Given the description of an element on the screen output the (x, y) to click on. 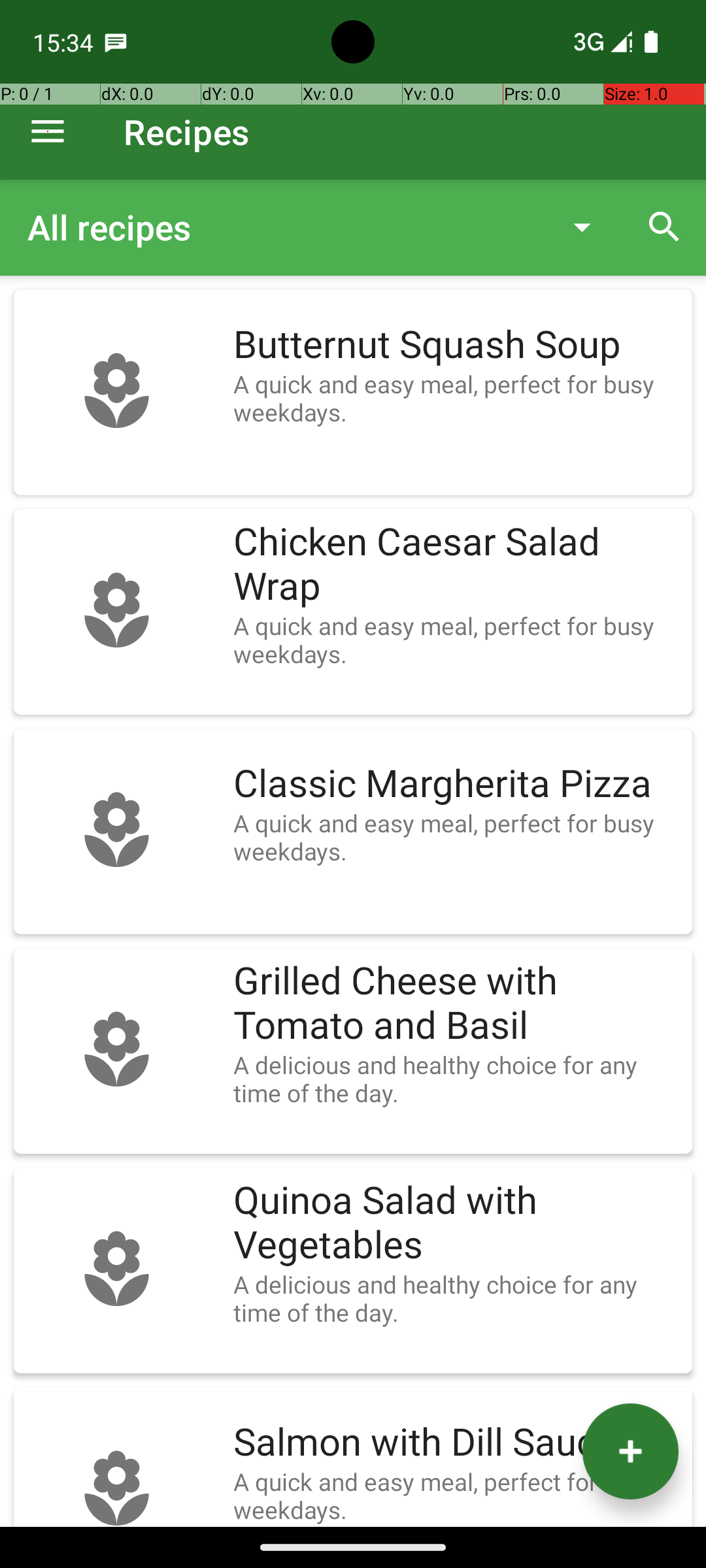
Chicken Caesar Salad Wrap Element type: android.widget.TextView (455, 564)
Classic Margherita Pizza Element type: android.widget.TextView (455, 783)
Grilled Cheese with Tomato and Basil Element type: android.widget.TextView (455, 1003)
Quinoa Salad with Vegetables Element type: android.widget.TextView (455, 1222)
Salmon with Dill Sauce Element type: android.widget.TextView (455, 1442)
